Given the description of an element on the screen output the (x, y) to click on. 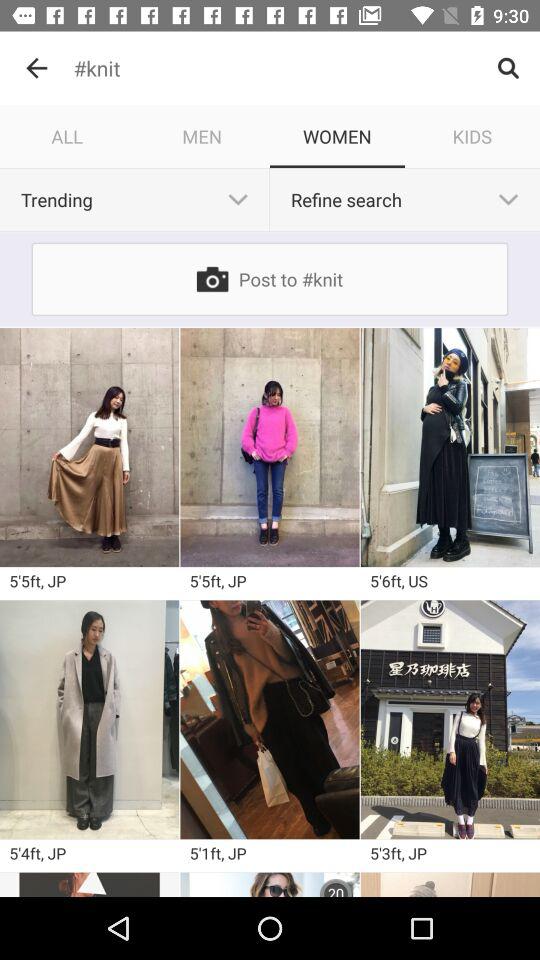
choose the icon to the right of men icon (337, 136)
